Given the description of an element on the screen output the (x, y) to click on. 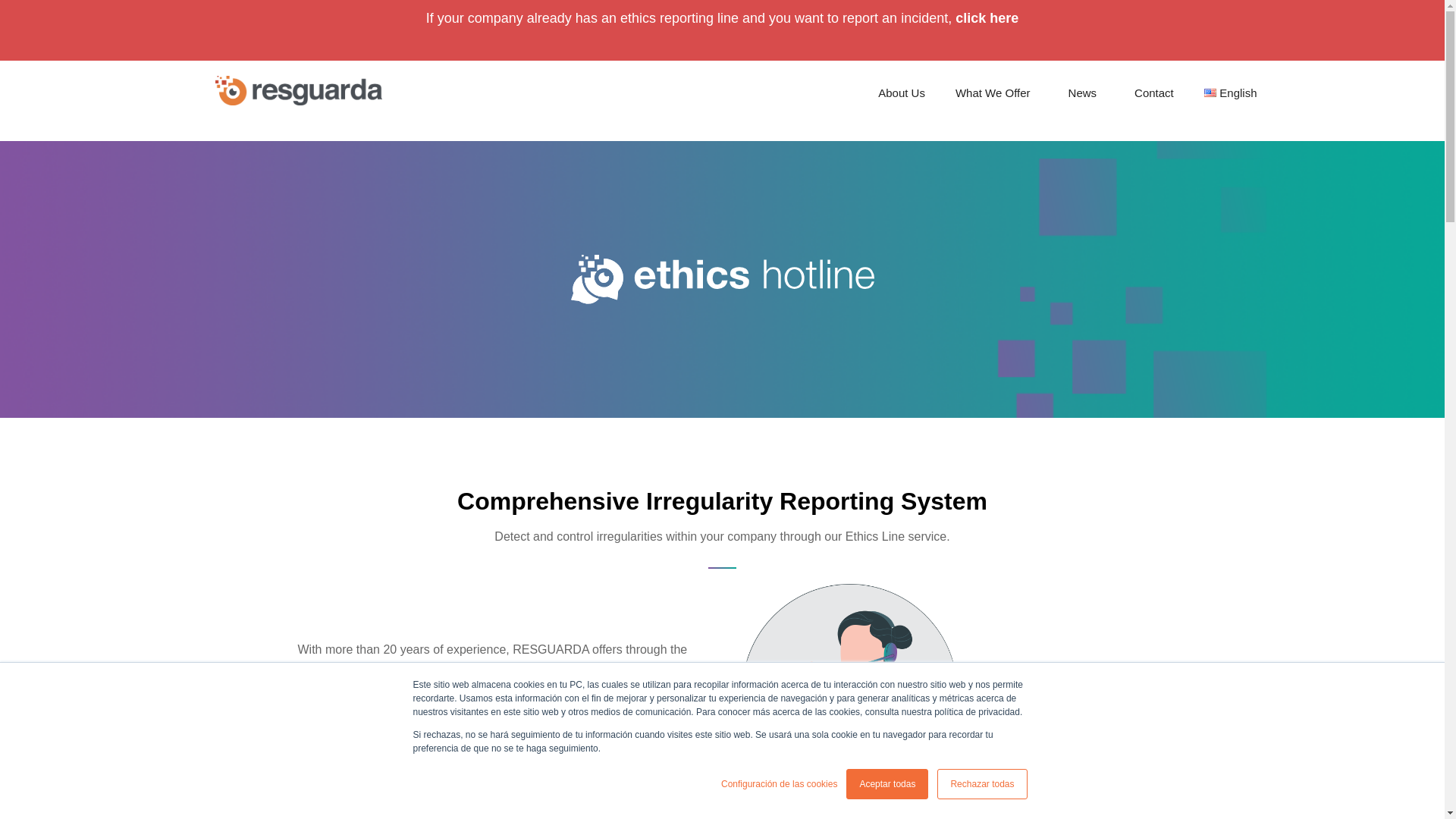
Contact (1154, 93)
News (1085, 93)
click here (986, 17)
What We Offer (996, 93)
Rechazar todas (981, 784)
Aceptar todas (886, 784)
English (1234, 93)
About Us (901, 93)
